Given the description of an element on the screen output the (x, y) to click on. 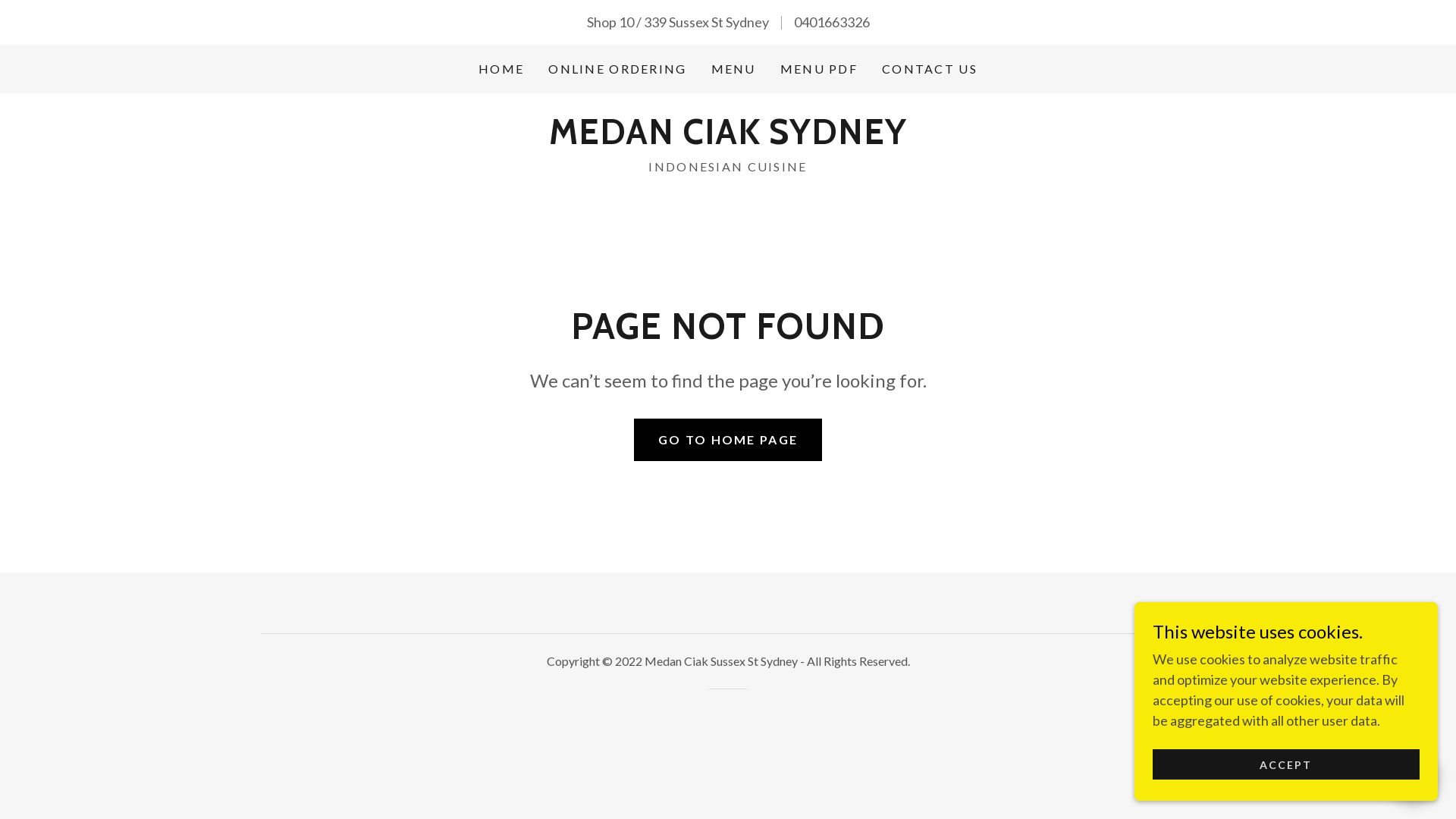
ACCEPT Element type: text (1285, 764)
GO TO HOME PAGE Element type: text (727, 439)
MENU Element type: text (733, 68)
HOME Element type: text (500, 68)
MENU PDF Element type: text (818, 68)
MEDAN CIAK SYDNEY Element type: text (727, 138)
ONLINE ORDERING Element type: text (616, 68)
0401663326 Element type: text (831, 21)
CONTACT US Element type: text (929, 68)
